Given the description of an element on the screen output the (x, y) to click on. 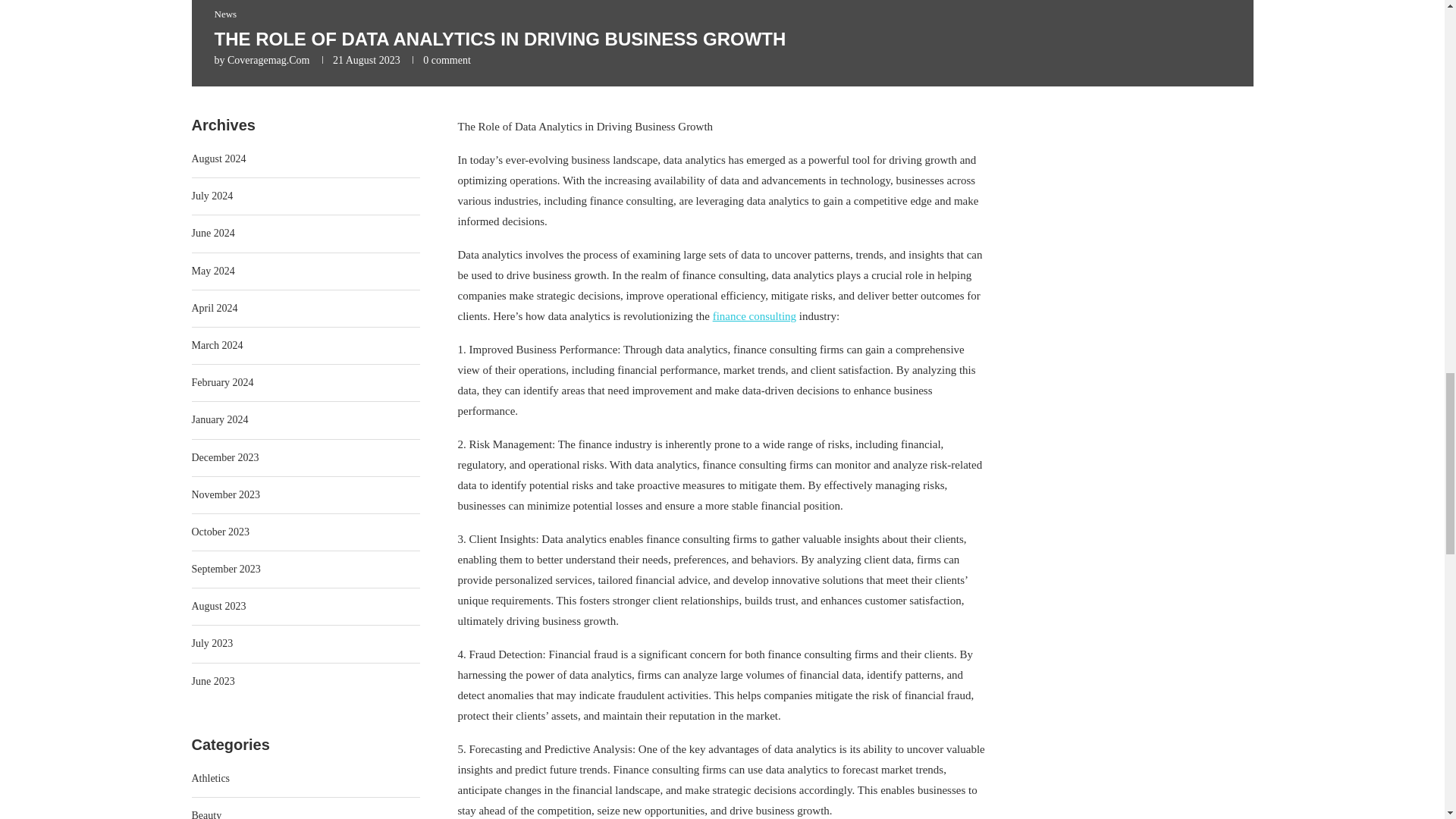
Coveragemag.Com (267, 60)
News (224, 14)
finance consulting (754, 316)
